Given the description of an element on the screen output the (x, y) to click on. 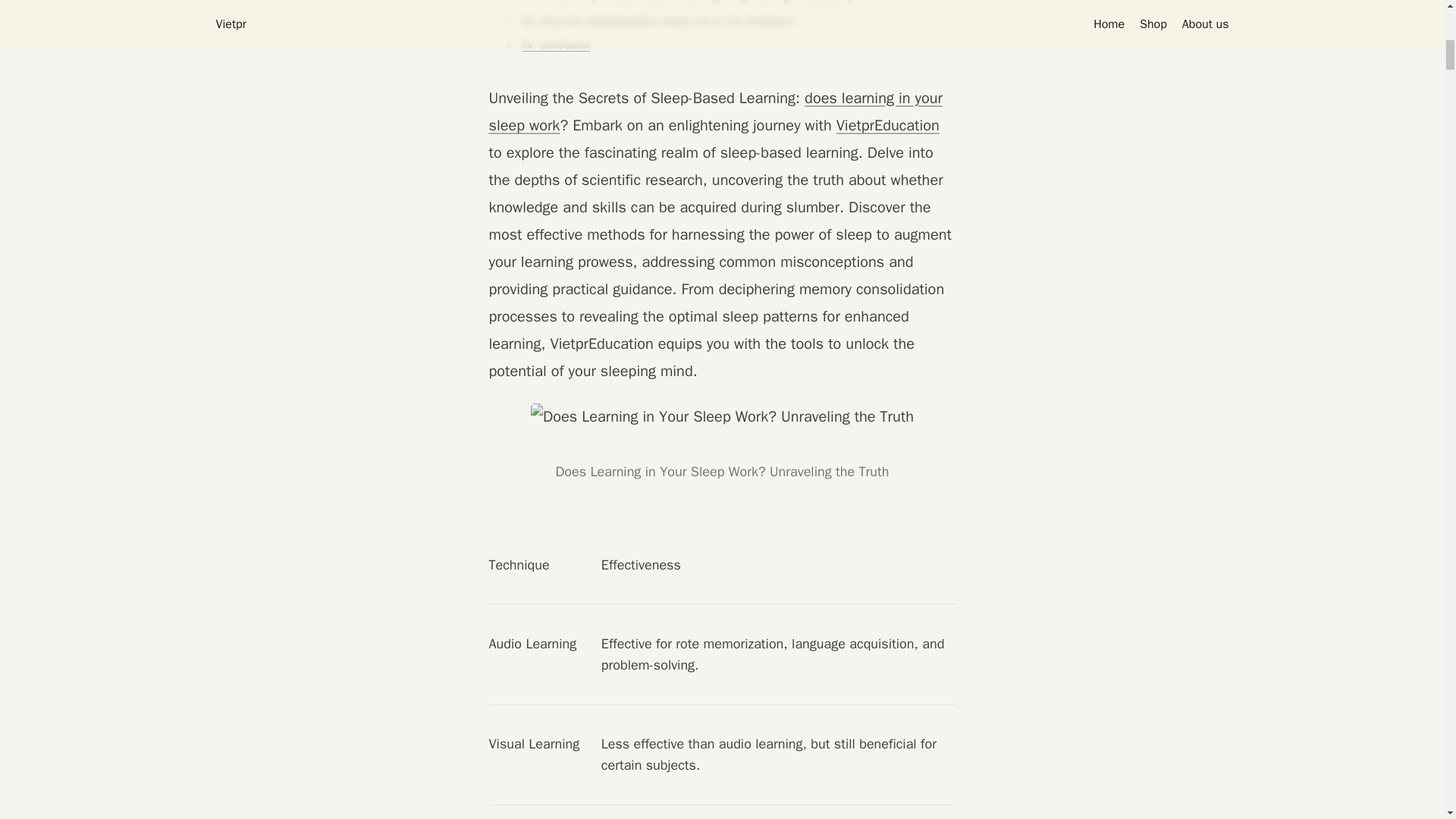
VietprEducation (887, 125)
does learning in your sleep work (714, 111)
XV. Conclusion (556, 45)
XIV. How Can VietprEducation Assist You In This Endeavor? (658, 20)
